Given the description of an element on the screen output the (x, y) to click on. 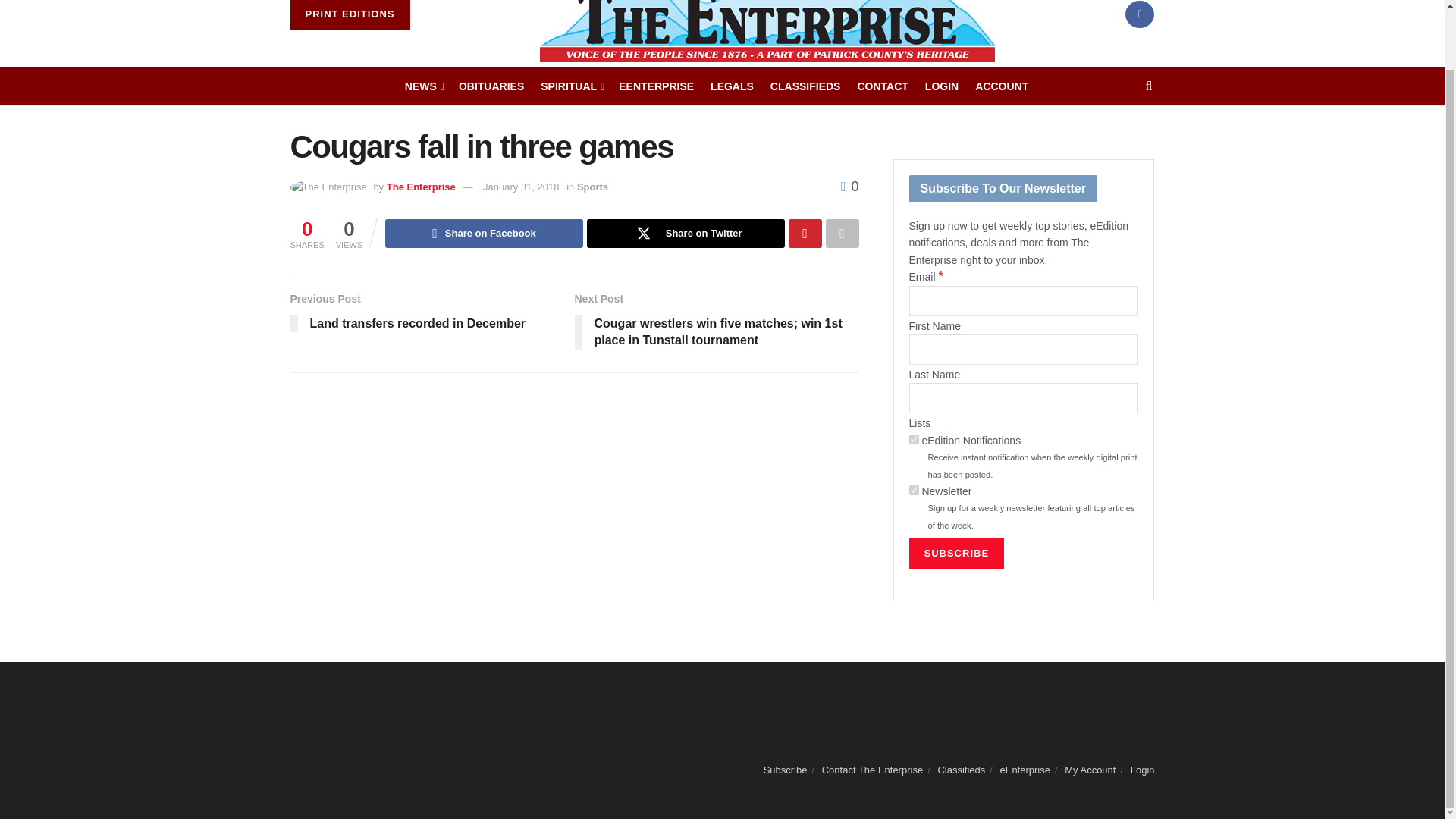
LOGIN (941, 86)
3 (913, 490)
LEGALS (732, 86)
SPIRITUAL (571, 86)
OBITUARIES (491, 86)
CONTACT (882, 86)
EENTERPRISE (656, 86)
ACCOUNT (1001, 86)
2 (913, 439)
